Given the description of an element on the screen output the (x, y) to click on. 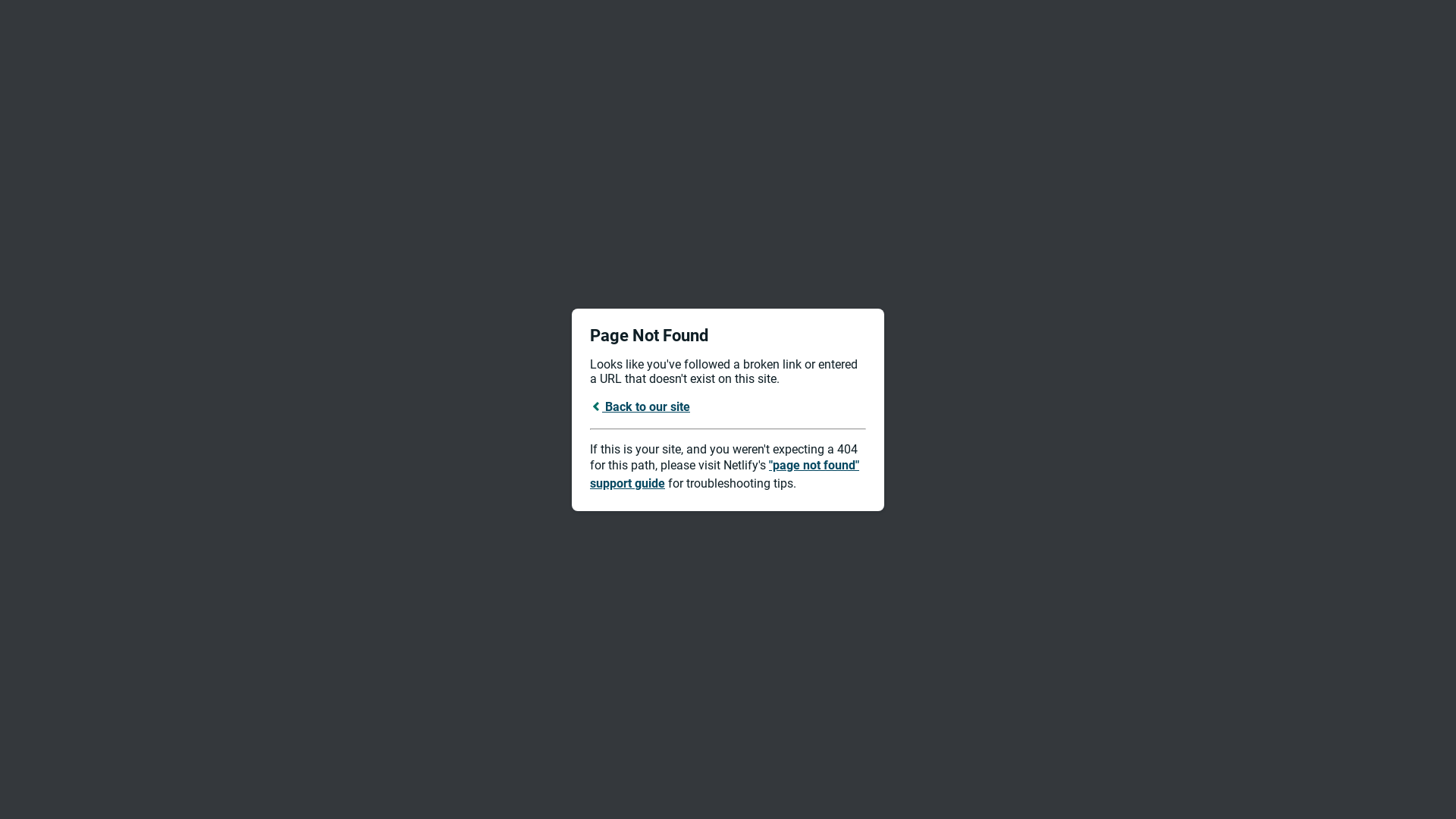
"page not found" support guide Element type: text (724, 474)
Back to our site Element type: text (639, 405)
